Given the description of an element on the screen output the (x, y) to click on. 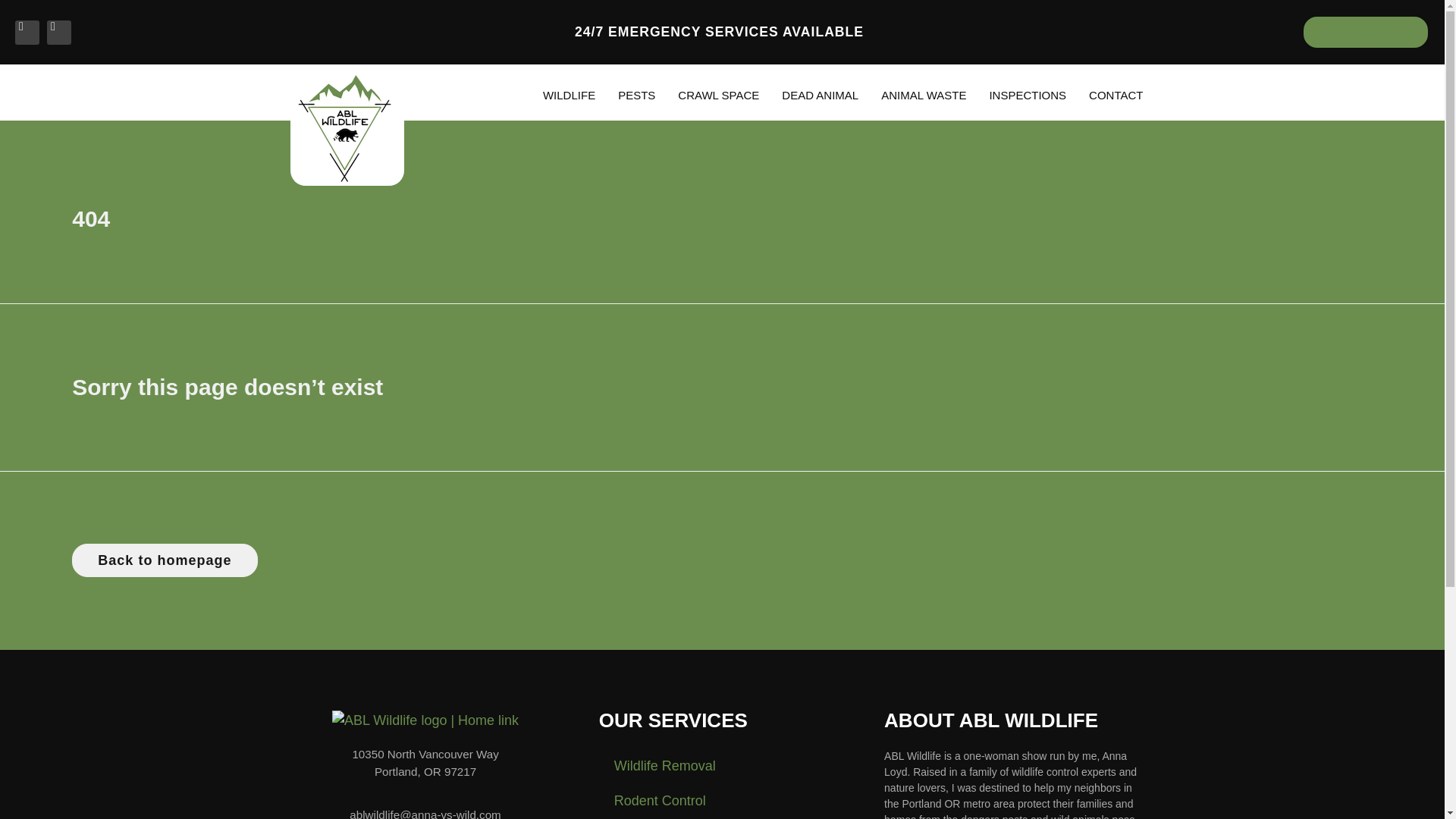
CONTACT (1115, 95)
WILDLIFE (569, 95)
ANIMAL WASTE (922, 95)
 541-510-8277 (1365, 32)
DEAD ANIMAL (819, 95)
INSPECTIONS (1026, 95)
PESTS (636, 95)
abl-wildlife-logo-white-footer (424, 720)
CRAWL SPACE (718, 95)
